Given the description of an element on the screen output the (x, y) to click on. 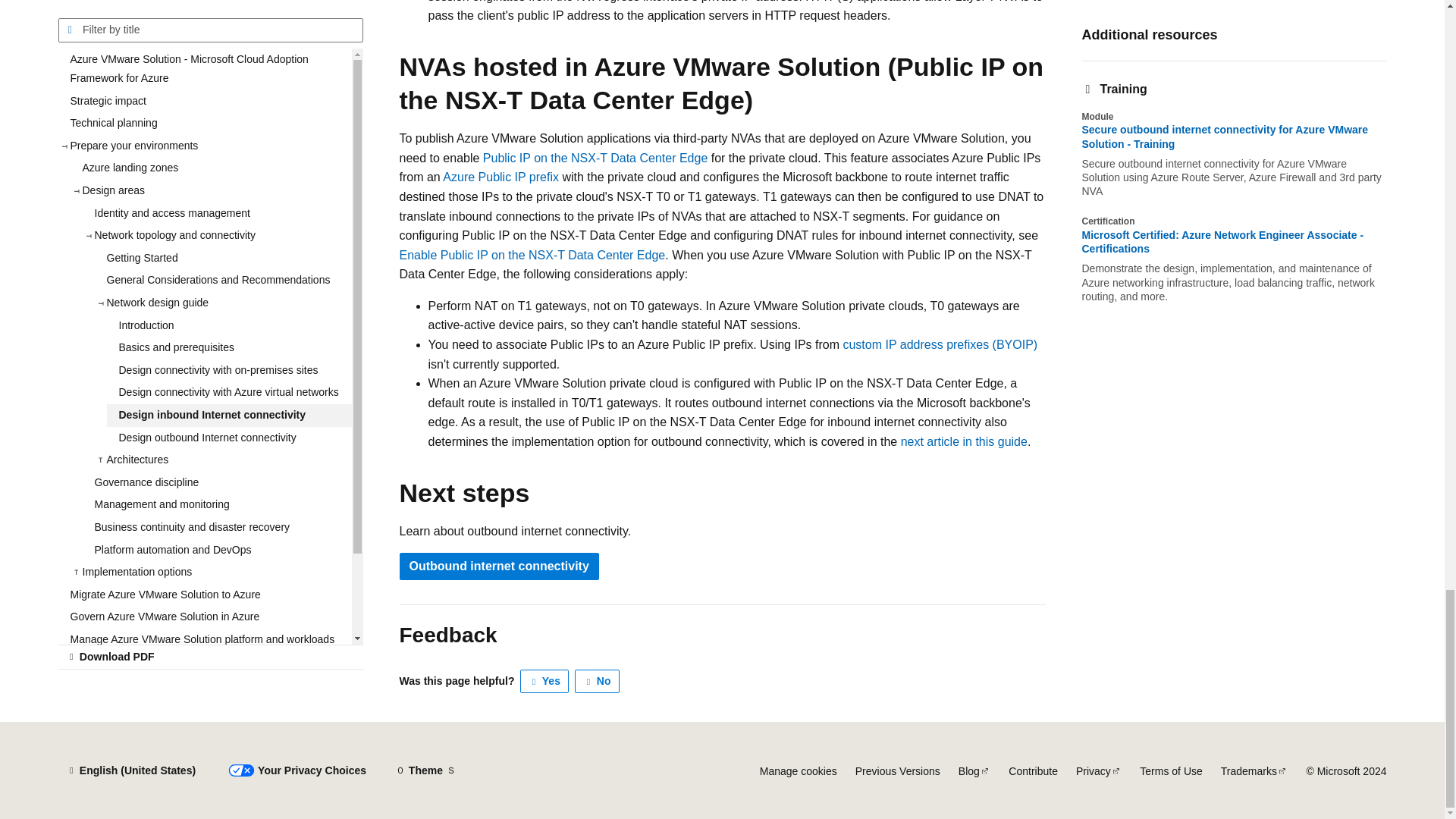
This article is helpful (544, 681)
This article is not helpful (597, 681)
Theme (425, 770)
